Given the description of an element on the screen output the (x, y) to click on. 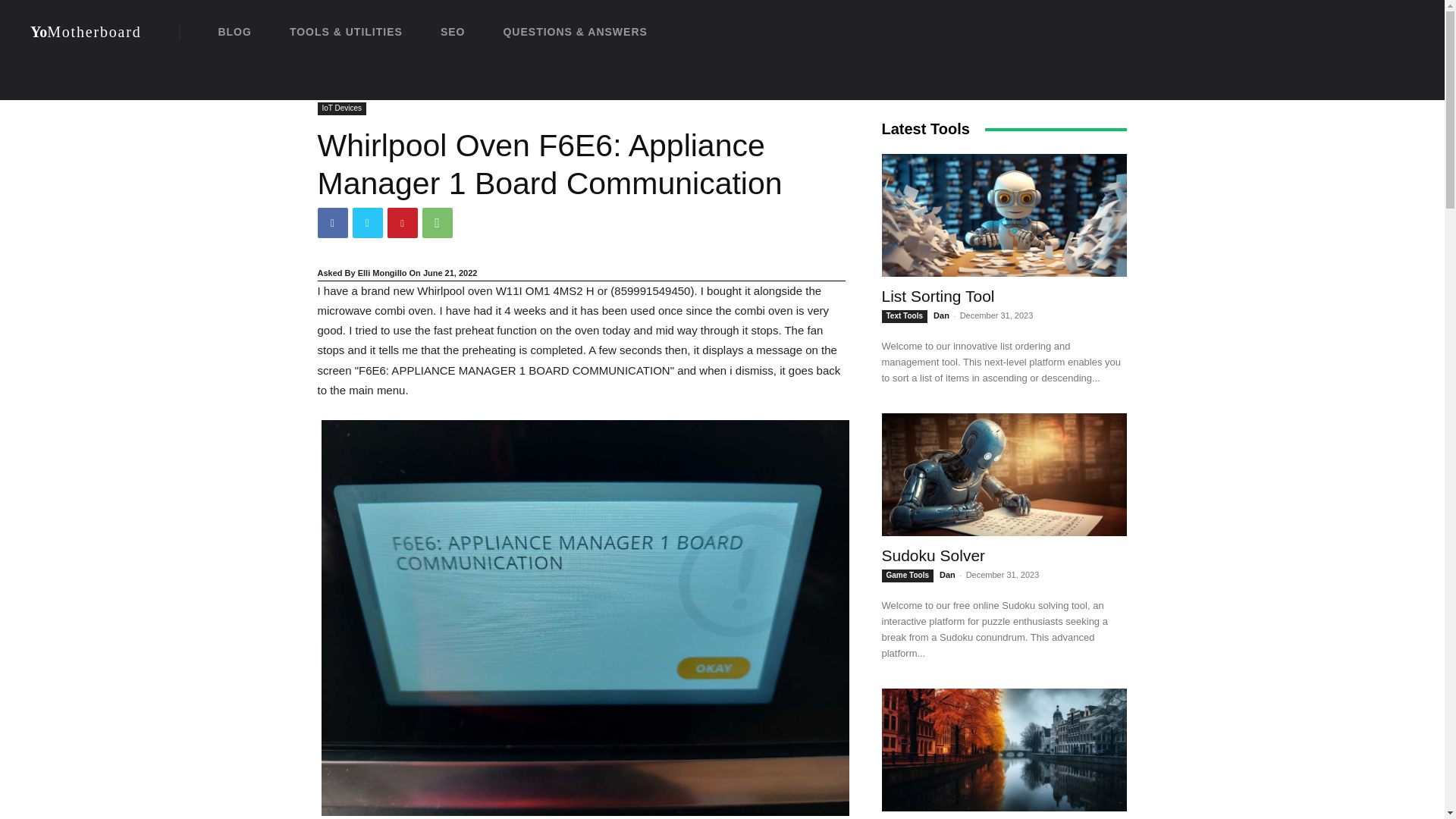
Smart Home (85, 31)
yomotherboard (381, 86)
Pinterest (85, 31)
Twitter (401, 223)
IoT Devices (366, 223)
Home (446, 86)
WhatsApp (328, 86)
tools and utilities (436, 223)
IoT Devices (346, 31)
Facebook (341, 108)
List Sorting Tool (332, 223)
